Given the description of an element on the screen output the (x, y) to click on. 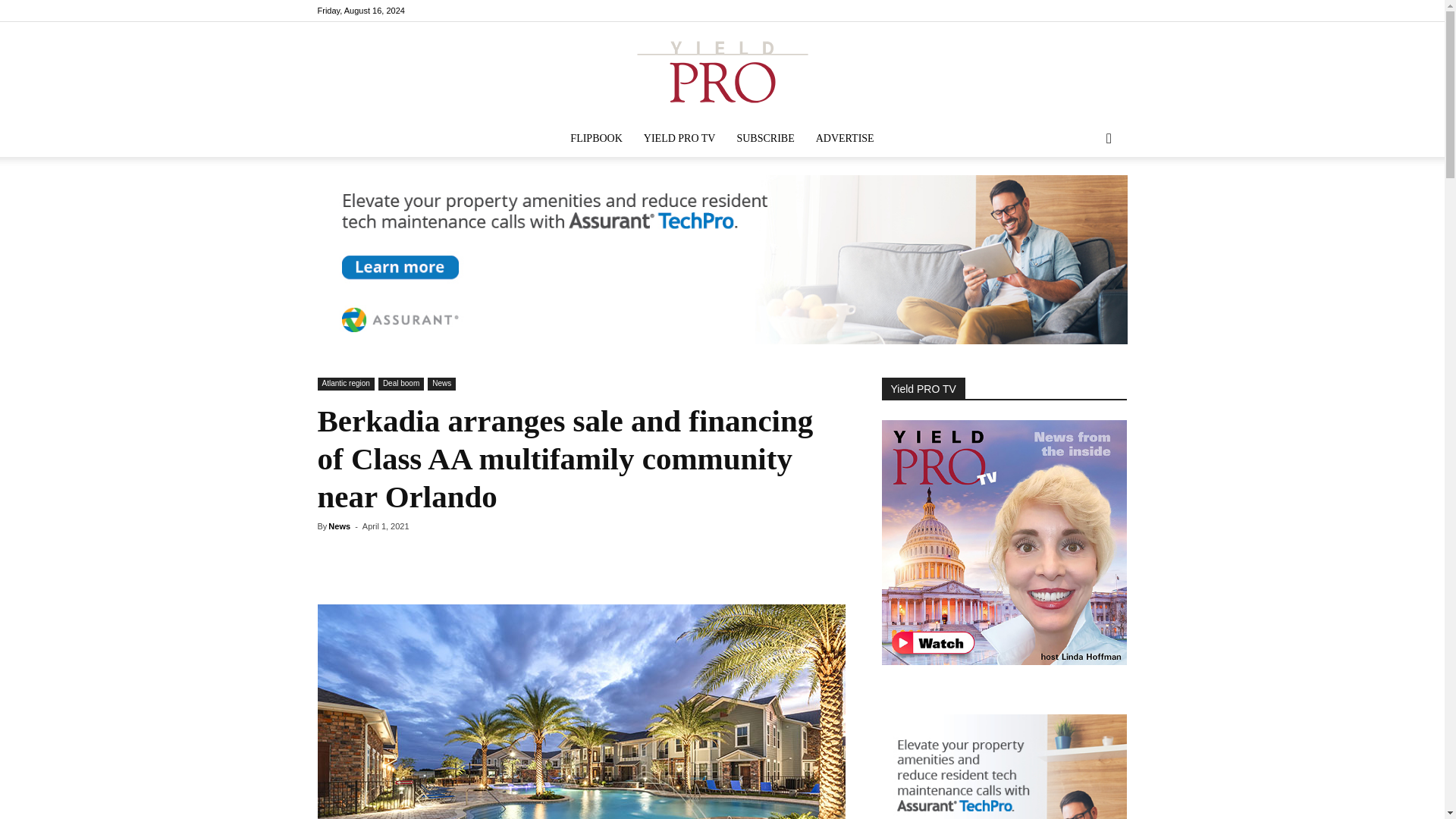
News (339, 525)
Deal boom (400, 383)
Facebook (1065, 10)
Twitter (1114, 10)
Verso Luxury Apartments (580, 711)
YIELD PRO TV (679, 138)
Search (1085, 199)
ADVERTISE (845, 138)
Linkedin (1090, 10)
